Given the description of an element on the screen output the (x, y) to click on. 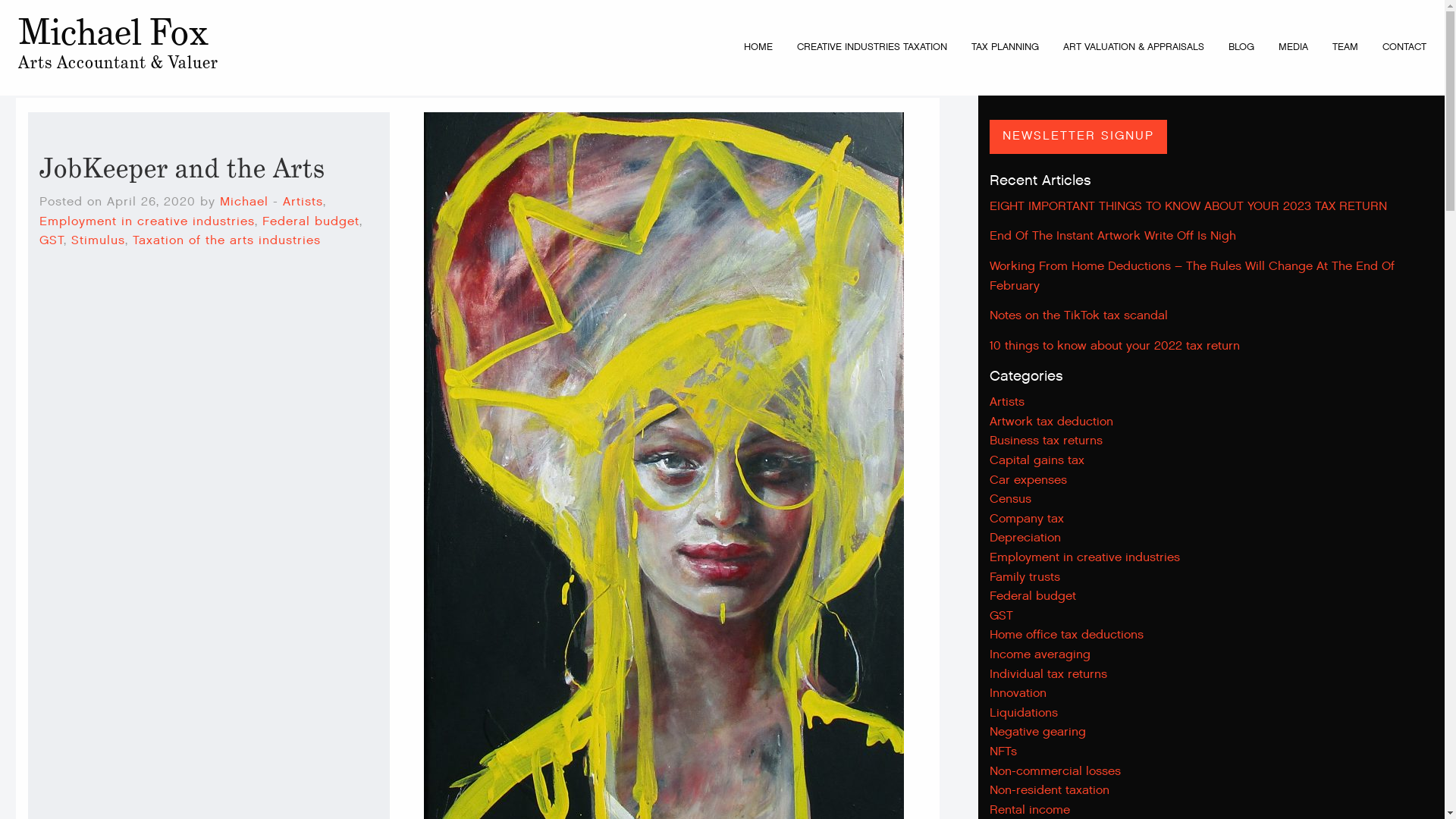
ART VALUATION & APPRAISALS Element type: text (1133, 47)
Capital gains tax Element type: text (1036, 460)
Census Element type: text (1010, 499)
GST Element type: text (51, 240)
Innovation Element type: text (1017, 693)
Employment in creative industries Element type: text (146, 221)
Family trusts Element type: text (1024, 577)
End Of The Instant Artwork Write Off Is Nigh Element type: text (1112, 234)
Negative gearing Element type: text (1037, 732)
Company tax Element type: text (1026, 519)
Employment in creative industries Element type: text (1084, 557)
Stimulus Element type: text (98, 240)
NEWSLETTER SIGNUP Element type: text (1078, 136)
Artists Element type: text (302, 202)
MEDIA Element type: text (1293, 47)
Artists Element type: text (1006, 402)
Federal budget Element type: text (310, 221)
TAX PLANNING Element type: text (1005, 47)
Michael Fox
Arts Accountant & Valuer Element type: text (118, 47)
Non-resident taxation Element type: text (1049, 790)
Income averaging Element type: text (1039, 654)
TEAM Element type: text (1345, 47)
BLOG Element type: text (1241, 47)
Depreciation Element type: text (1024, 538)
HOME Element type: text (757, 47)
CREATIVE INDUSTRIES TAXATION Element type: text (871, 47)
Car expenses Element type: text (1027, 480)
Michael Element type: text (243, 202)
Federal budget Element type: text (1032, 596)
10 things to know about your 2022 tax return Element type: text (1114, 344)
Rental income Element type: text (1029, 810)
Individual tax returns Element type: text (1048, 674)
Home office tax deductions Element type: text (1066, 635)
Non-commercial losses Element type: text (1054, 771)
Business tax returns Element type: text (1045, 440)
Taxation of the arts industries Element type: text (226, 240)
Artwork tax deduction Element type: text (1051, 421)
GST Element type: text (1001, 616)
EIGHT IMPORTANT THINGS TO KNOW ABOUT YOUR 2023 TAX RETURN Element type: text (1187, 204)
CONTACT Element type: text (1404, 47)
Liquidations Element type: text (1023, 713)
Notes on the TikTok tax scandal Element type: text (1078, 313)
NFTs Element type: text (1002, 751)
